Given the description of an element on the screen output the (x, y) to click on. 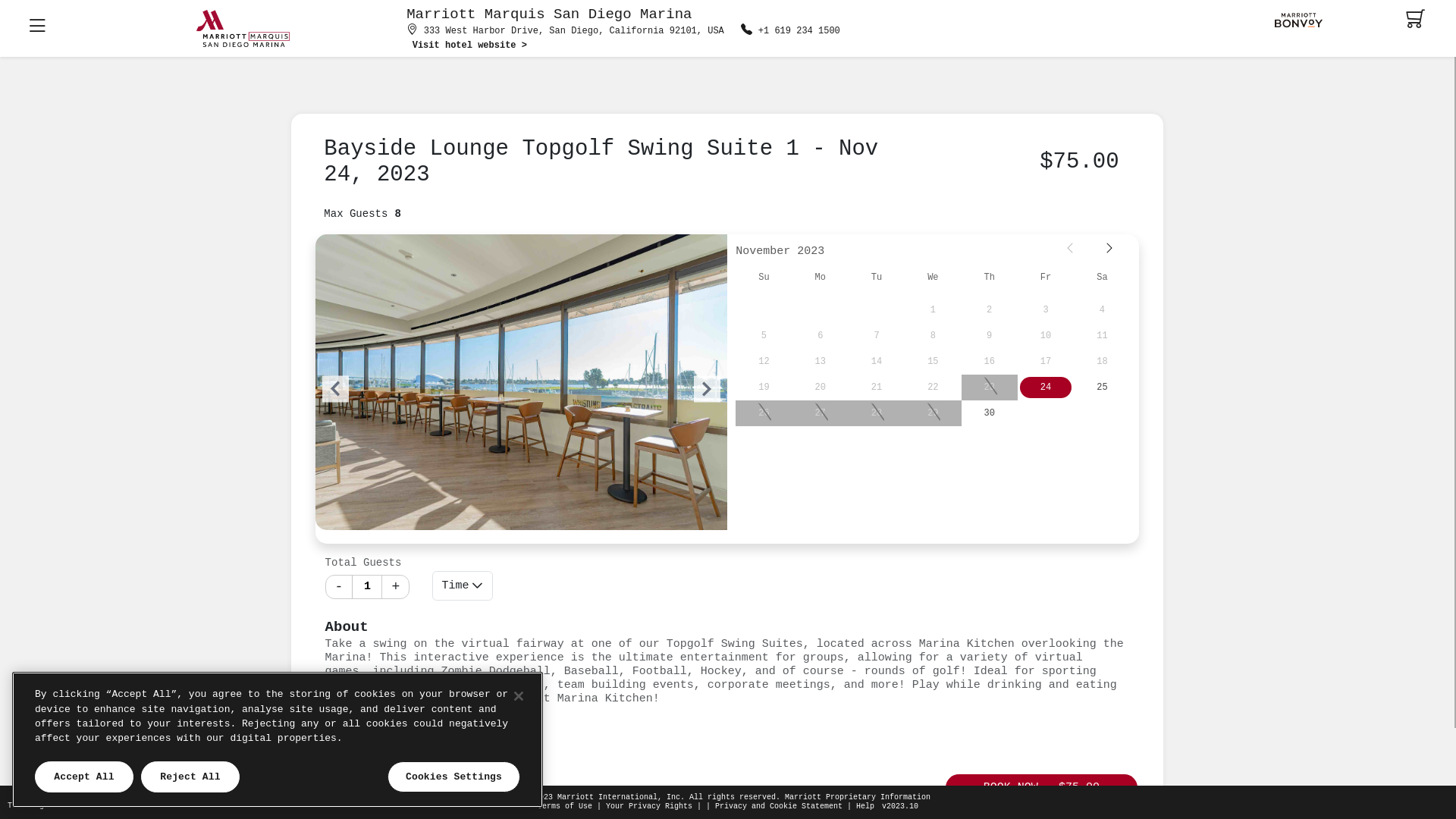
24 Element type: text (1045, 387)
29 Element type: text (932, 412)
Prev Element type: hover (1071, 249)
23 Element type: text (989, 387)
Tracking Preferences Element type: text (52, 804)
Next Element type: text (706, 388)
Privacy and Cookie Statement Element type: text (778, 806)
Cookies Settings Element type: text (453, 777)
Next Element type: hover (1110, 249)
25 Element type: text (1101, 387)
30 Element type: text (989, 412)
Time Element type: text (462, 586)
Terms of Use Element type: text (564, 806)
Help Element type: text (865, 806)
Accept All Element type: text (83, 777)
27 Element type: text (820, 412)
Previous Element type: text (335, 388)
26 Element type: text (763, 412)
28 Element type: text (876, 412)
BOOK NOW - $75.00 Element type: text (1041, 787)
Your Privacy Rights Element type: text (648, 806)
Visit hotel website > Element type: text (469, 45)
333 West Harbor Drive, San Diego, California 92101, USA Element type: text (573, 31)
Reject All Element type: text (190, 777)
